Given the description of an element on the screen output the (x, y) to click on. 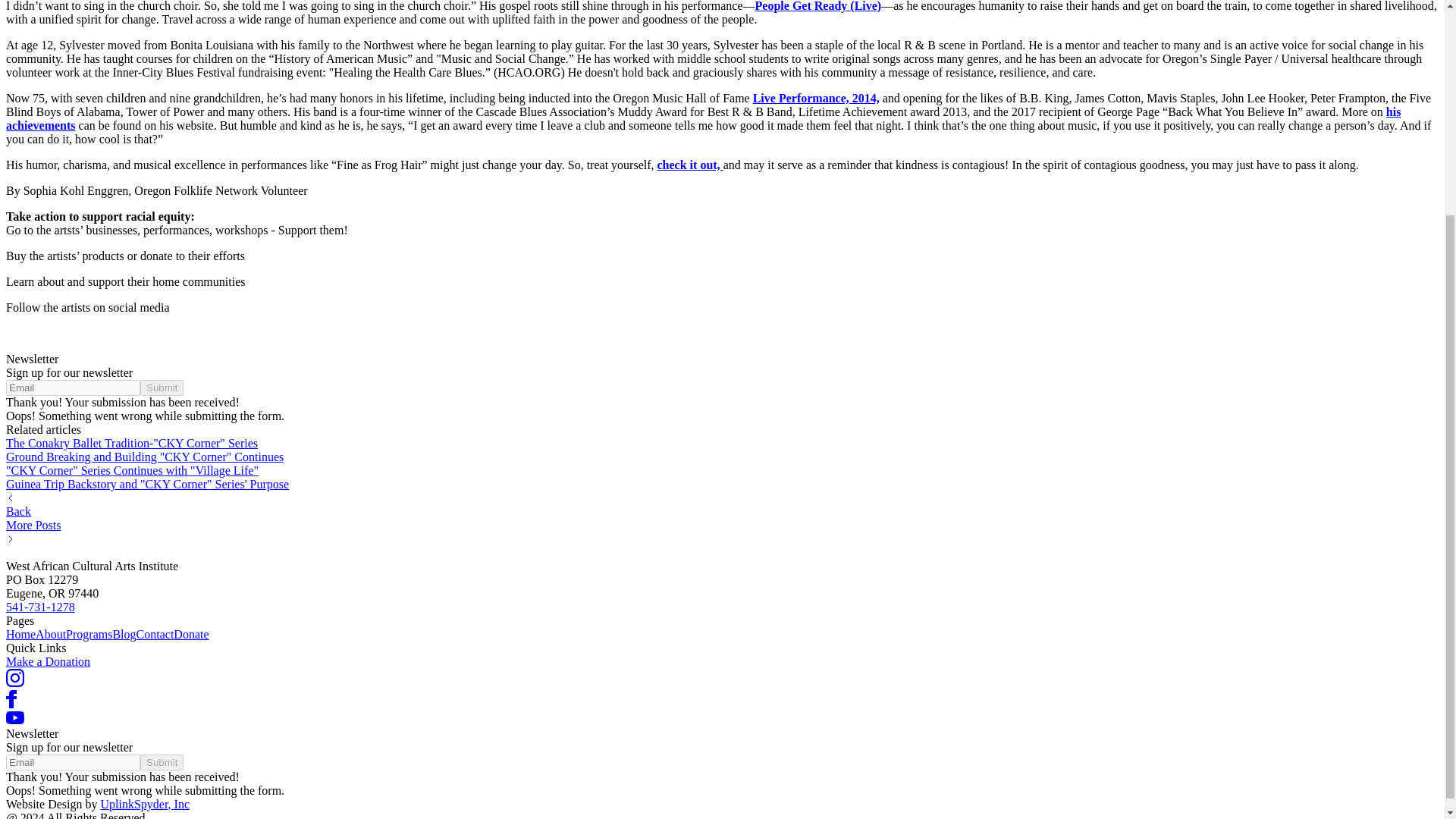
check it out, (690, 164)
Programs (88, 634)
Make a Donation (47, 661)
About (49, 634)
Submit (161, 387)
Submit (161, 387)
Blog (123, 634)
UplinkSpyder, Inc (144, 803)
Contact (155, 634)
his achievements (702, 118)
Submit (161, 762)
Home (19, 634)
541-731-1278 (40, 606)
Live Performance, 2014, (815, 97)
Submit (161, 762)
